Given the description of an element on the screen output the (x, y) to click on. 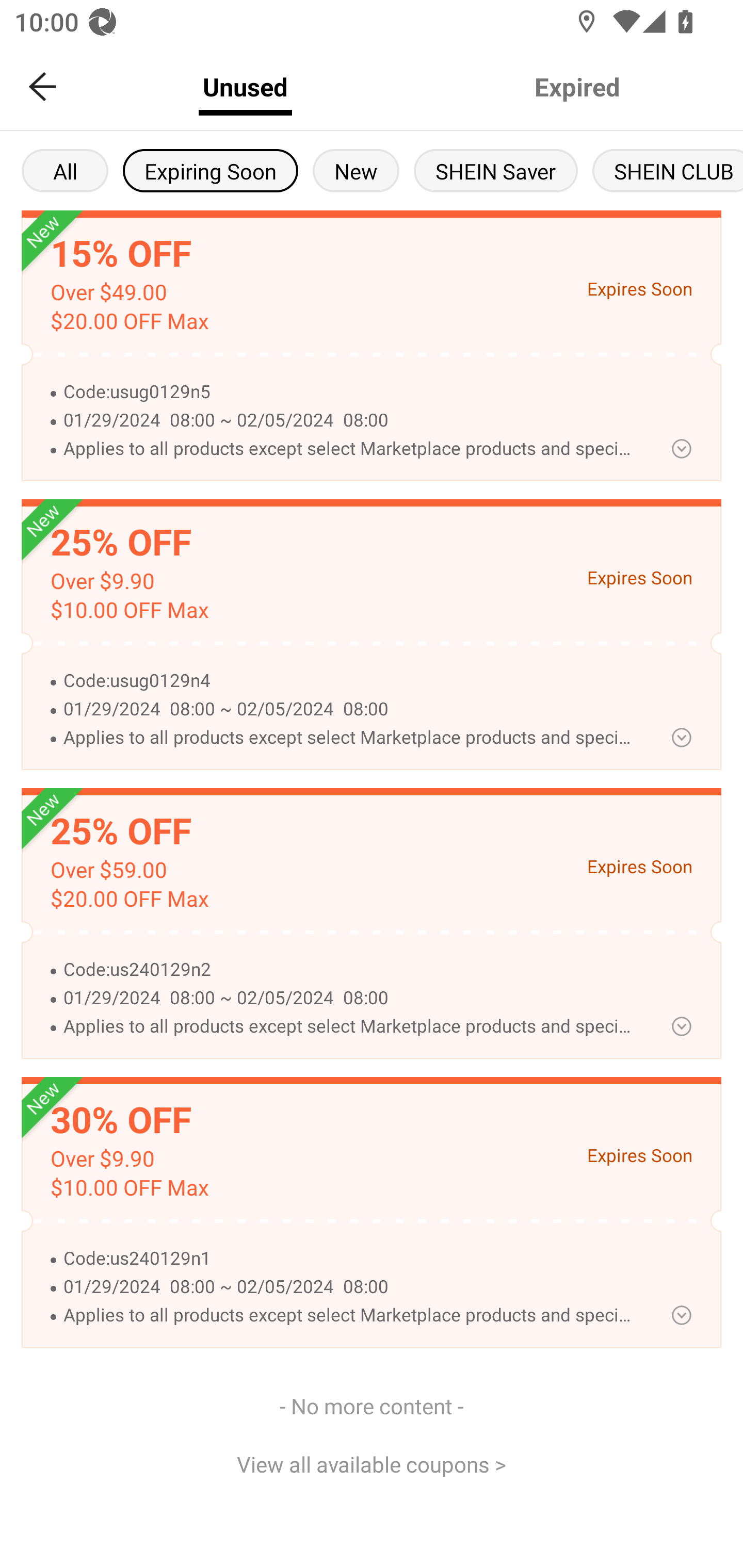
Unused (244, 86)
Expired (576, 86)
All (64, 170)
Expiring Soon (209, 170)
New (355, 170)
SHEIN Saver (495, 170)
SHEIN CLUB (667, 170)
$20.00 OFF Max (129, 320)
Code:usug0129n5 (350, 391)
01/29/2024  08:00 ~ 02/05/2024  08:00 (350, 420)
Pack up (681, 448)
$10.00 OFF Max (129, 609)
Code:usug0129n4 (350, 681)
01/29/2024  08:00 ~ 02/05/2024  08:00 (350, 709)
Pack up (681, 737)
$20.00 OFF Max (129, 898)
Code:us240129n2 (350, 969)
01/29/2024  08:00 ~ 02/05/2024  08:00 (350, 997)
Pack up (681, 1026)
$10.00 OFF Max (129, 1188)
Code:us240129n1 (350, 1259)
01/29/2024  08:00 ~ 02/05/2024  08:00 (350, 1287)
Pack up (681, 1315)
View all available coupons > (371, 1463)
